Given the description of an element on the screen output the (x, y) to click on. 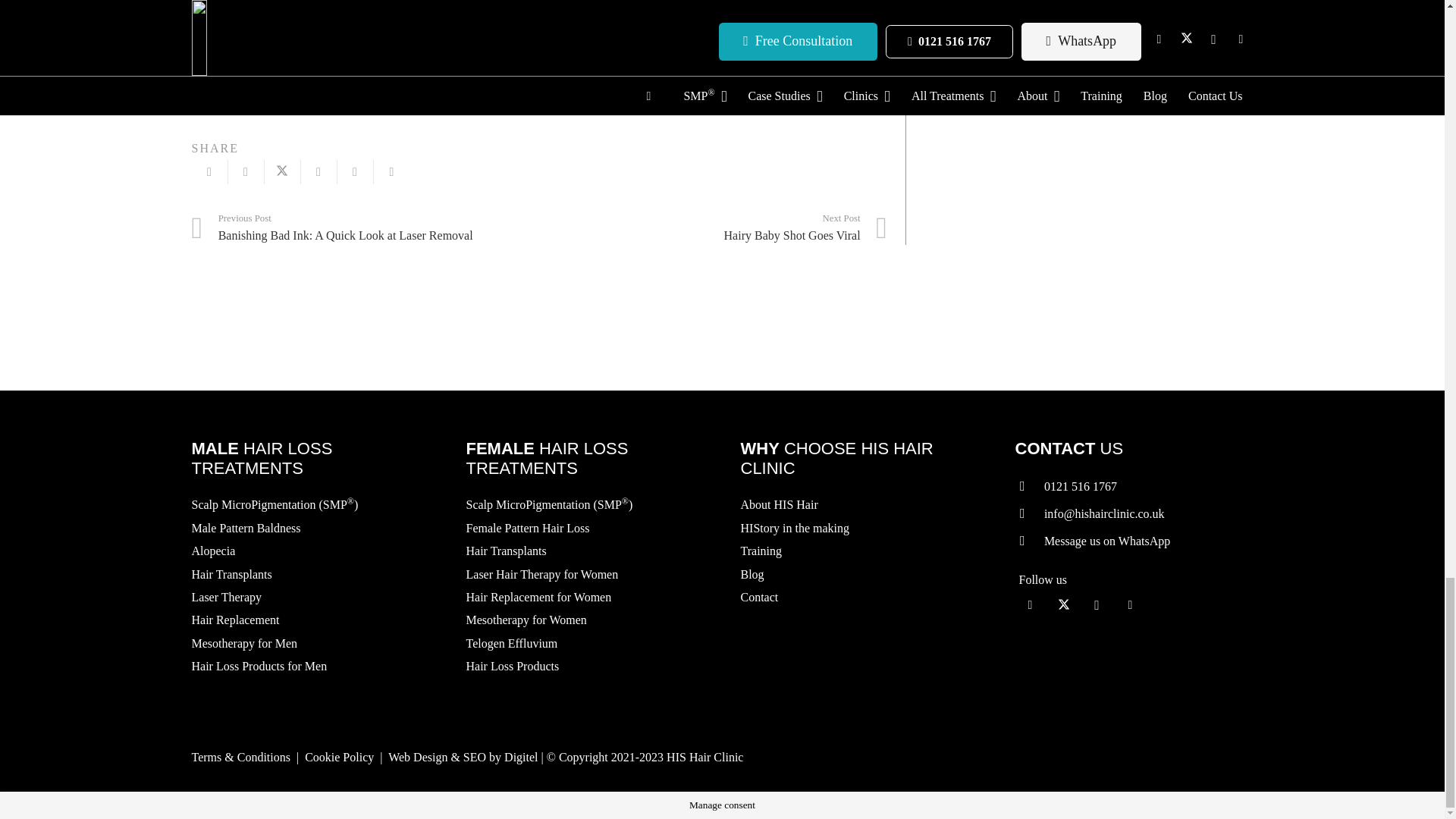
Share this (390, 171)
Pin this (354, 171)
Hairy Baby Shot Goes Viral (712, 227)
Share this (245, 171)
Email this (208, 171)
Share this (317, 171)
Tweet this (281, 171)
Banishing Bad Ink: A Quick Look at Laser Removal (364, 227)
